Given the description of an element on the screen output the (x, y) to click on. 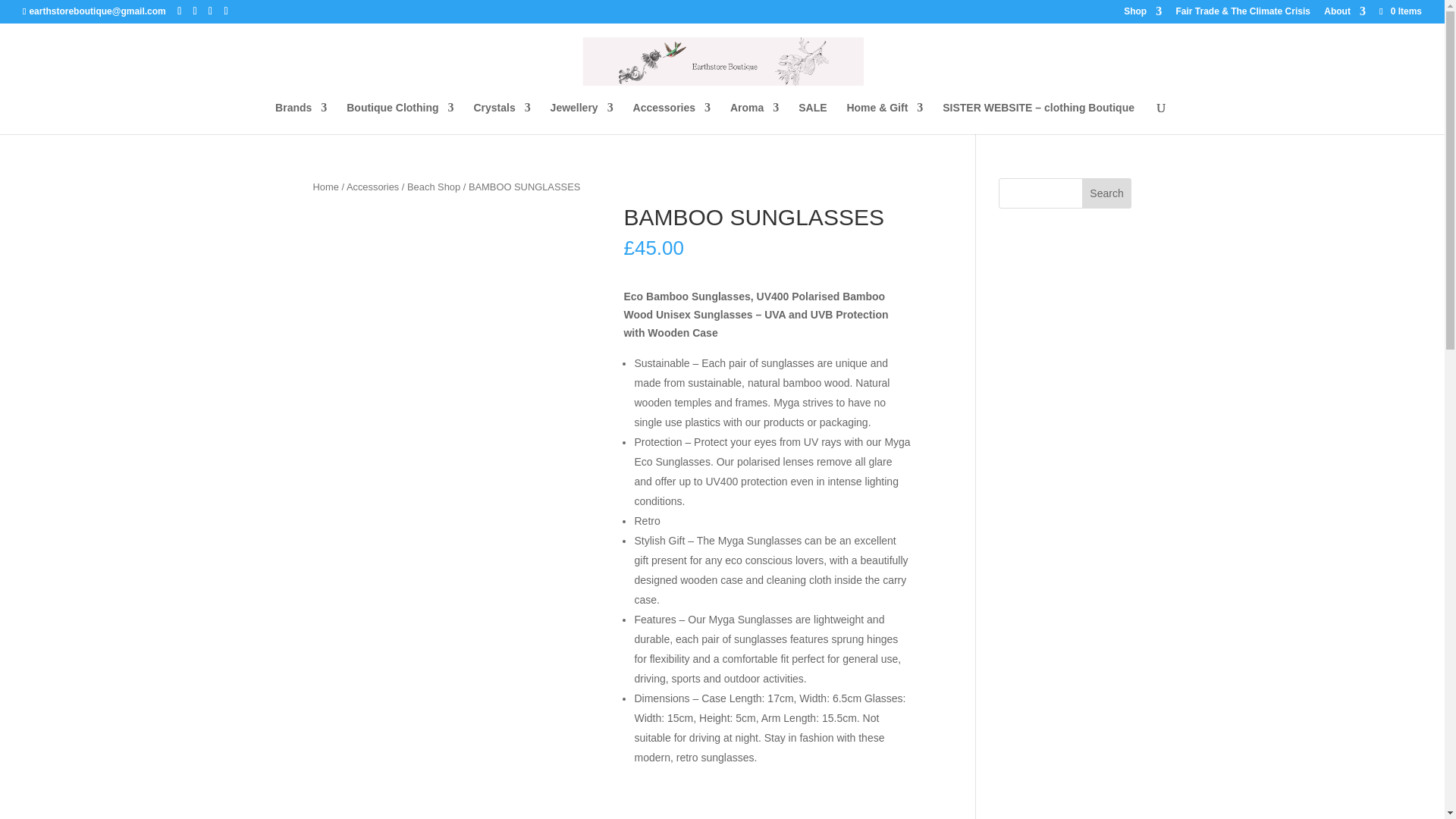
0 Items (1399, 10)
Search (1106, 193)
Boutique Clothing (399, 118)
Shop (1142, 14)
Brands (300, 118)
About (1344, 14)
